Given the description of an element on the screen output the (x, y) to click on. 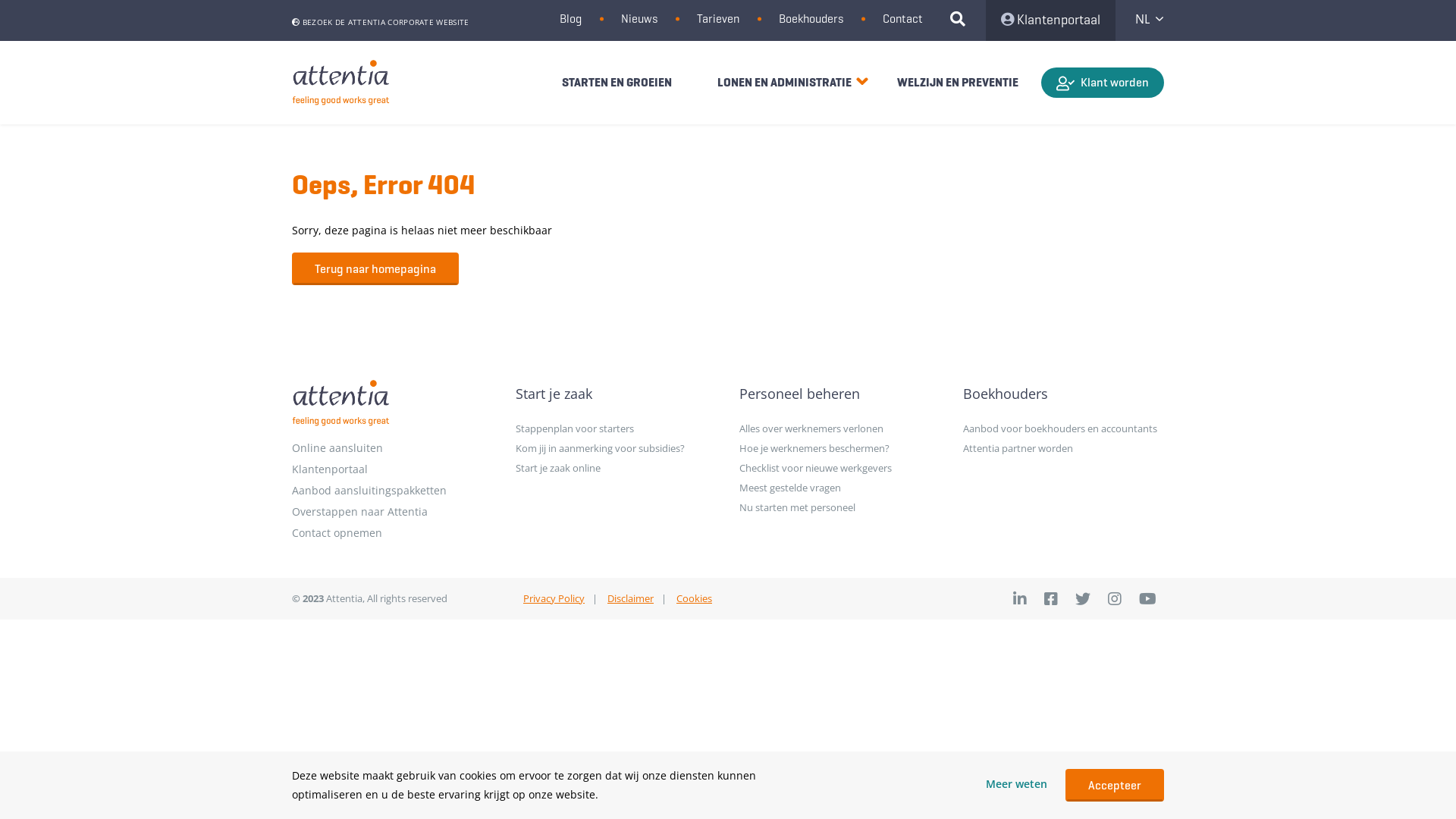
Meer weten Element type: text (1016, 784)
Hoe je werknemers beschermen? Element type: text (839, 448)
BEZOEK DE ATTENTIA CORPORATE WEBSITE Element type: text (379, 21)
Klant worden Element type: text (1102, 82)
Kom jij in aanmerking voor subsidies? Element type: text (615, 448)
Cookies Element type: text (693, 597)
Blog Element type: text (570, 18)
WELZIJN EN PREVENTIE Element type: text (957, 82)
Nieuws Element type: text (639, 18)
Klantenportaal Element type: text (391, 469)
Nu starten met personeel Element type: text (839, 507)
Personeel beheren Element type: text (839, 393)
Terug naar homepagina Element type: text (374, 268)
Tarieven Element type: text (717, 18)
Boekhouders Element type: text (1063, 393)
STARTEN EN GROEIEN Element type: text (616, 82)
Home Element type: hover (340, 82)
Contact Element type: text (902, 18)
Start je zaak Element type: text (615, 393)
LONEN EN ADMINISTRATIE Element type: text (784, 82)
Home Element type: hover (340, 402)
Start je zaak online Element type: text (615, 467)
Boekhouders Element type: text (810, 18)
Privacy Policy Element type: text (553, 597)
Attentia partner worden Element type: text (1063, 448)
Aanbod voor boekhouders en accountants Element type: text (1063, 428)
Checklist voor nieuwe werkgevers Element type: text (839, 467)
Meest gestelde vragen Element type: text (839, 487)
Overstappen naar Attentia Element type: text (391, 511)
Search Element type: text (963, 20)
Aanbod aansluitingspakketten Element type: text (391, 490)
Klantenportaal Element type: text (1050, 20)
Stappenplan voor starters Element type: text (615, 428)
Online aansluiten Element type: text (391, 447)
Contact opnemen Element type: text (391, 532)
Disclaimer Element type: text (630, 597)
Alles over werknemers verlonen Element type: text (839, 428)
